Given the description of an element on the screen output the (x, y) to click on. 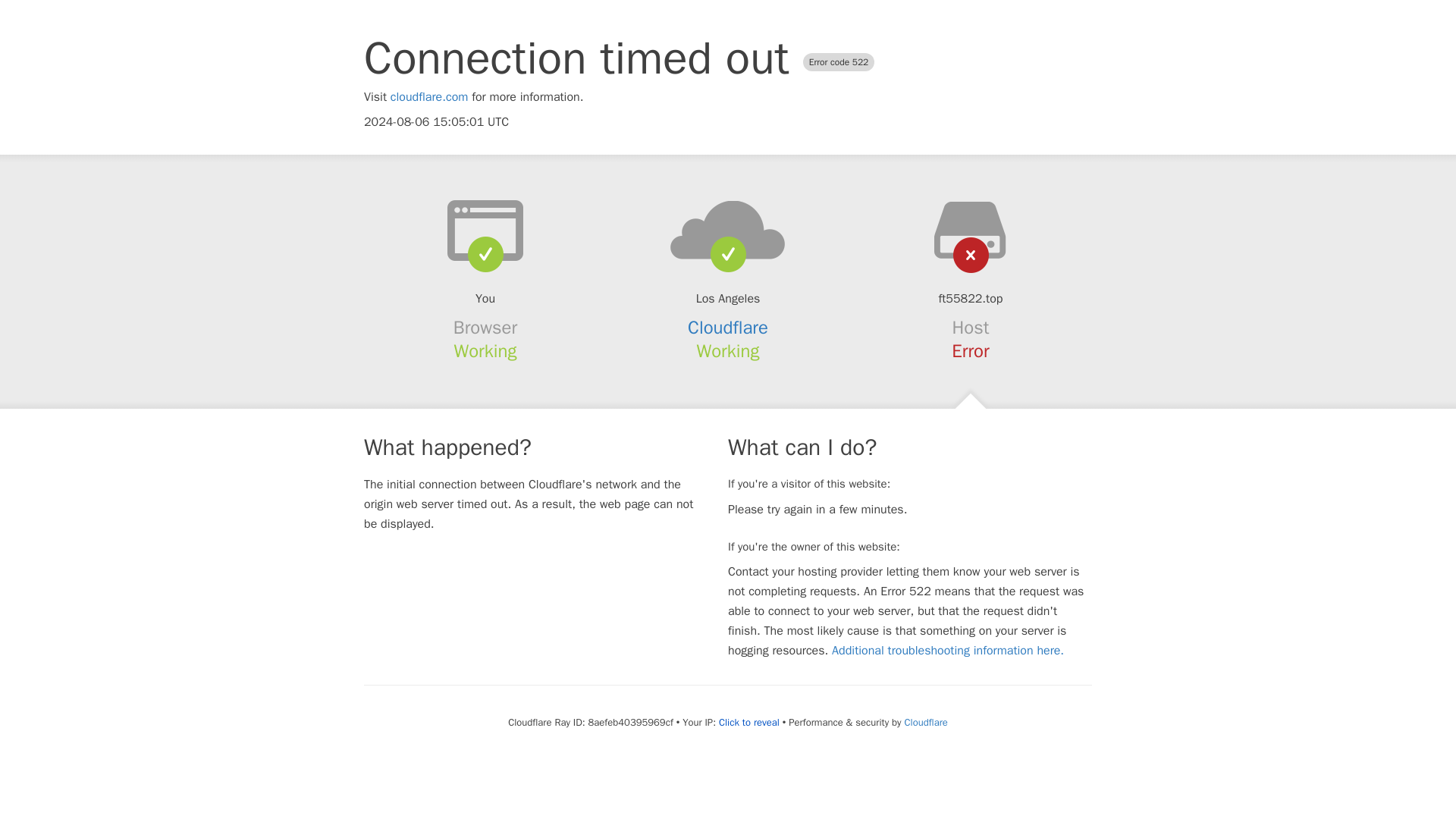
Additional troubleshooting information here. (947, 650)
cloudflare.com (429, 96)
Cloudflare (727, 327)
Cloudflare (925, 721)
Click to reveal (748, 722)
